Given the description of an element on the screen output the (x, y) to click on. 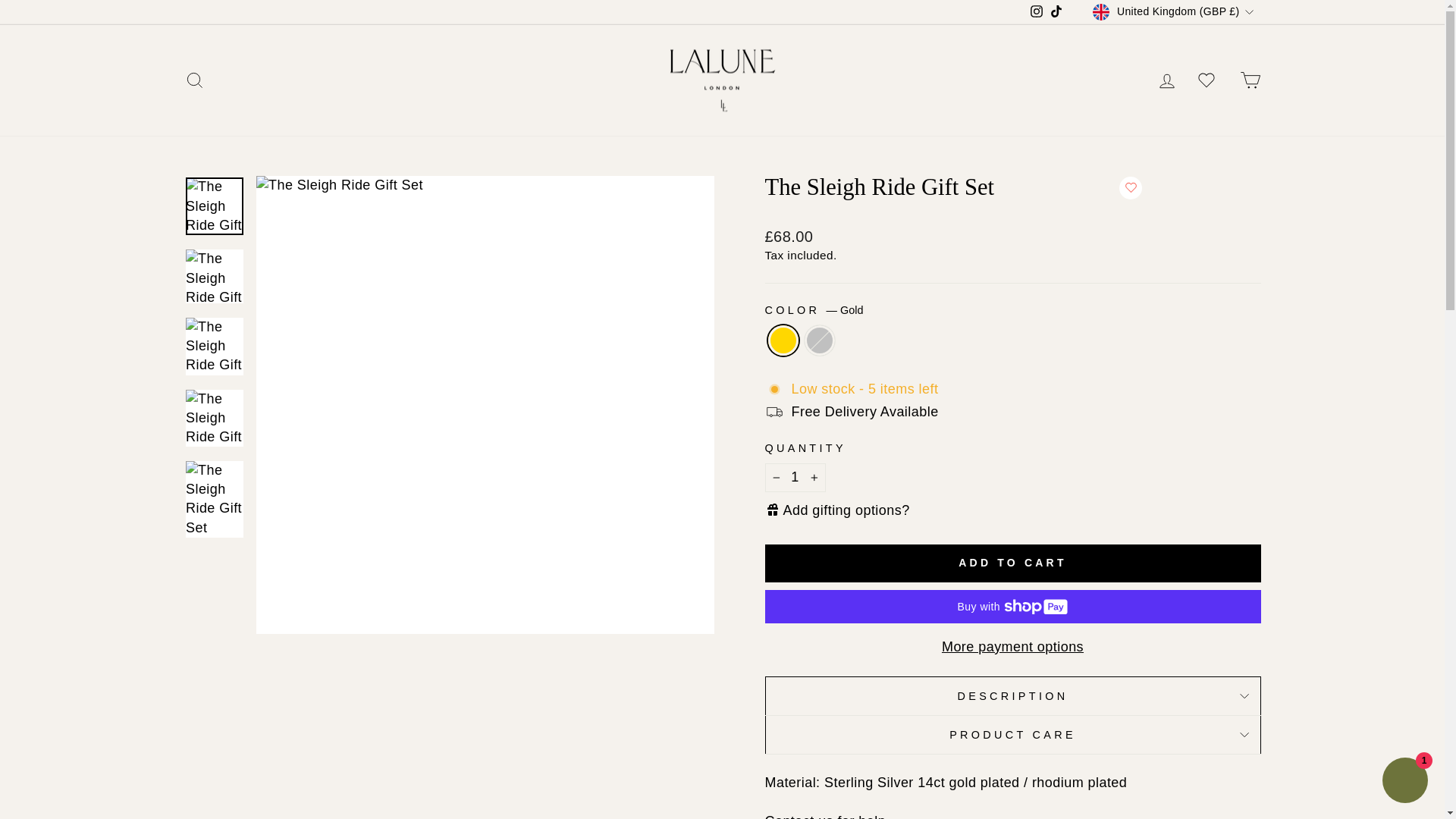
Choose your gift packaging (1018, 512)
Instagram (1036, 11)
TikTok (1055, 11)
Lalune London on Instagram (1036, 11)
Lalune London on TikTok (1055, 11)
1 (794, 477)
Shopify online store chat (1404, 781)
